Given the description of an element on the screen output the (x, y) to click on. 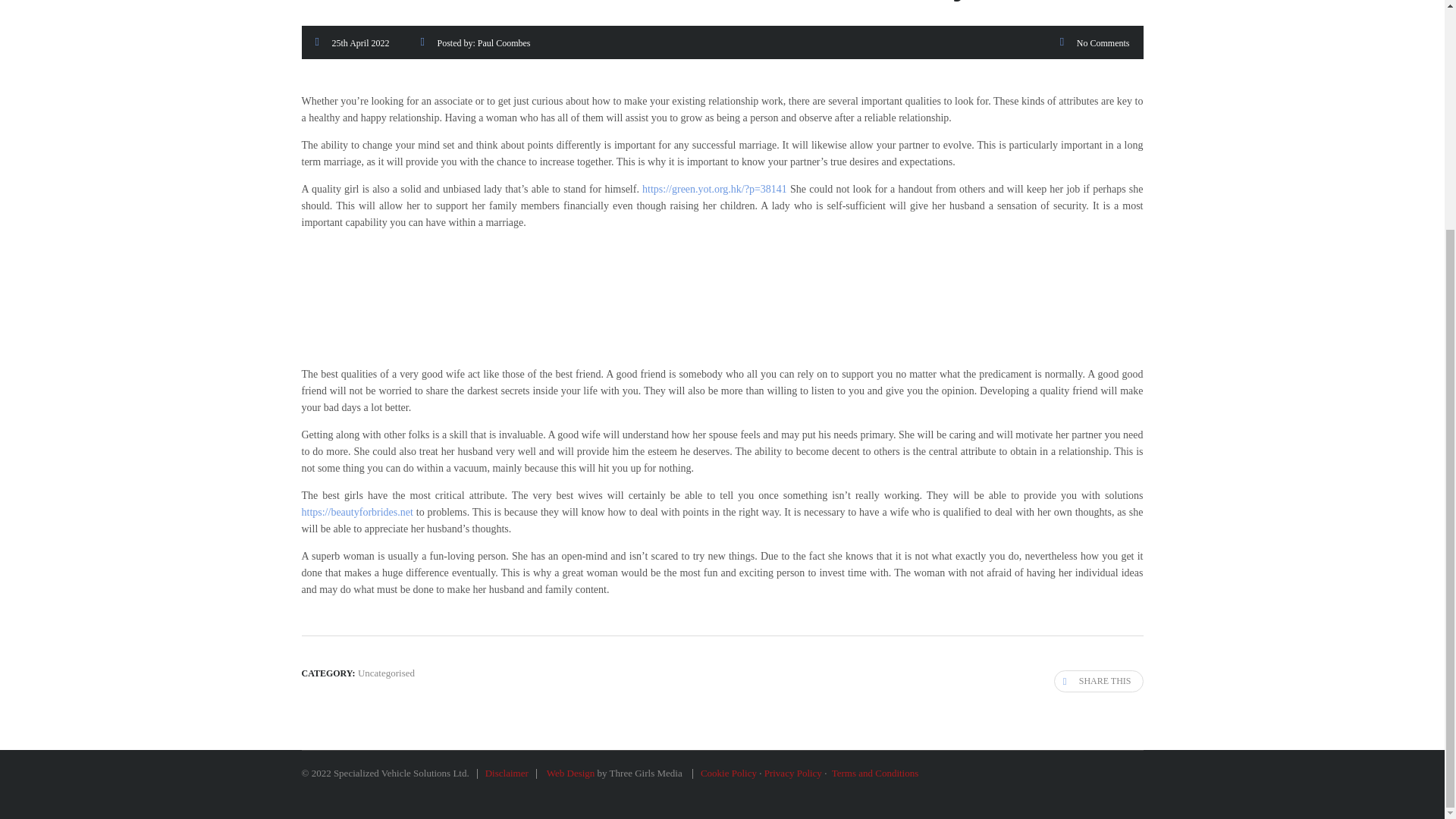
SHARE THIS (1098, 681)
Disclaimer (506, 772)
Cookie Policy (728, 772)
Terms and Conditions (874, 772)
Share this (1098, 681)
Web Design (569, 772)
Uncategorised (386, 672)
Privacy Policy (793, 772)
No Comments (1103, 42)
